Given the description of an element on the screen output the (x, y) to click on. 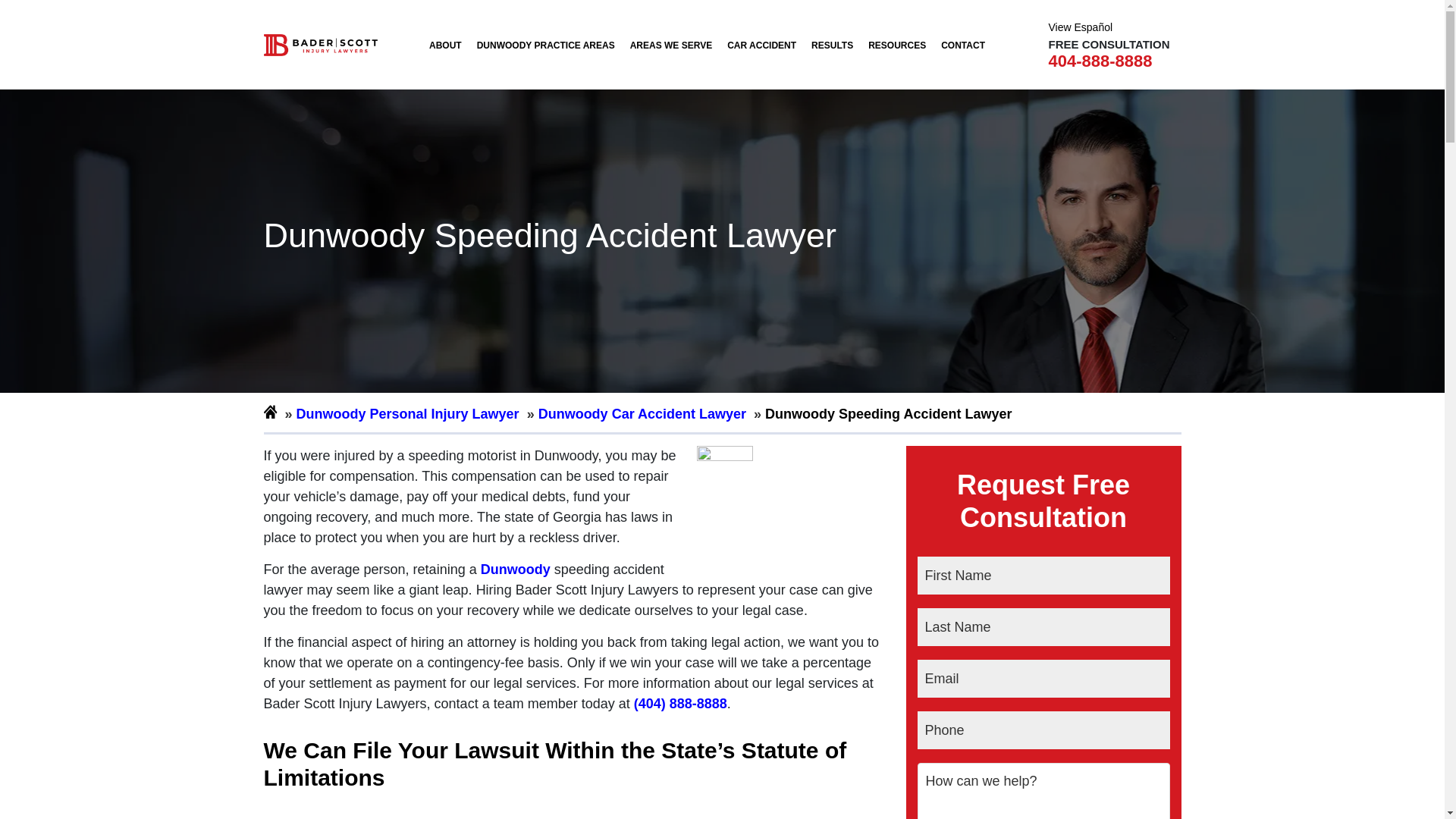
CAR ACCIDENT (761, 45)
AREAS WE SERVE (670, 45)
DUNWOODY PRACTICE AREAS (545, 45)
ABOUT (445, 45)
